Given the description of an element on the screen output the (x, y) to click on. 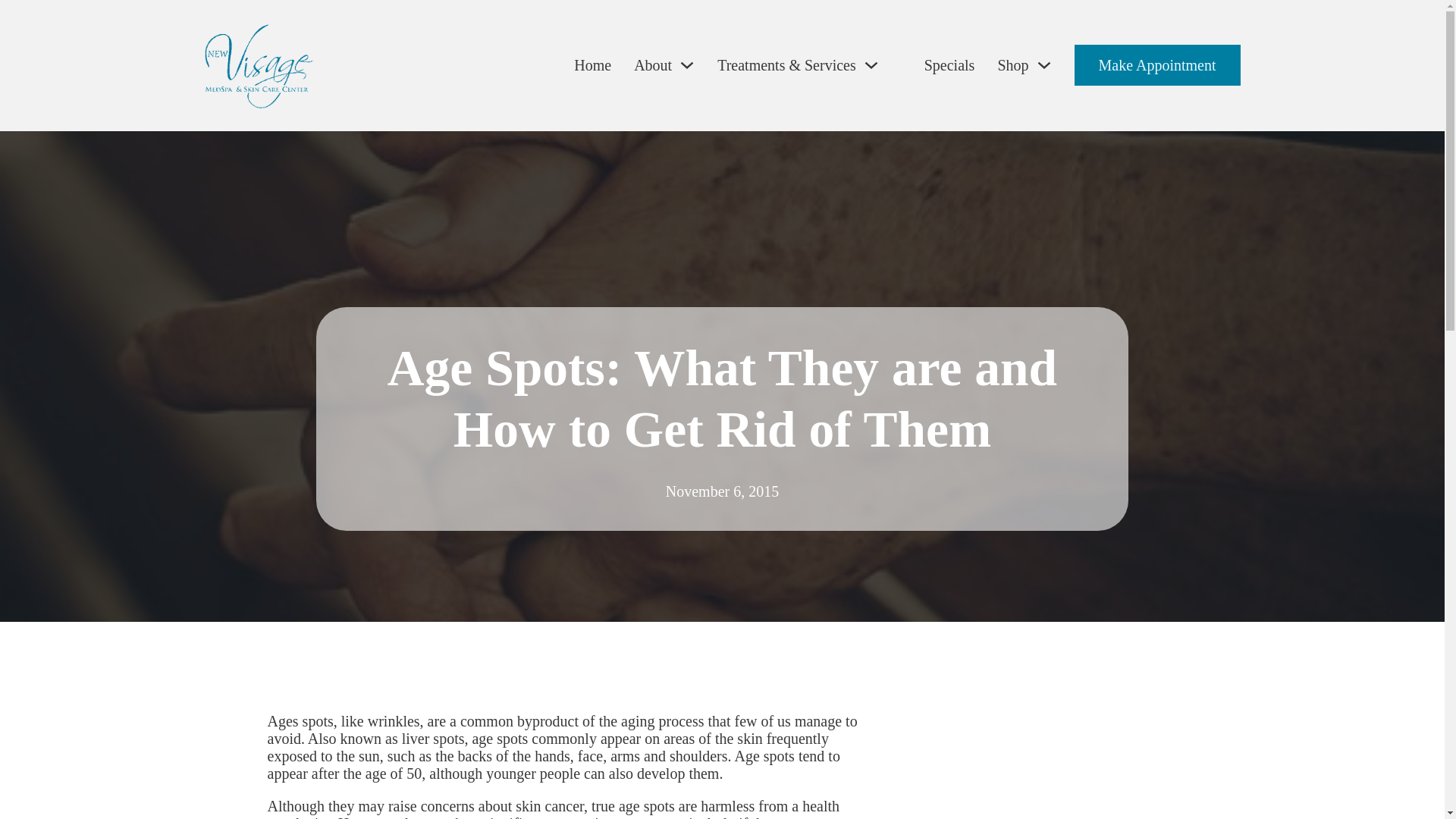
About (652, 65)
Home (592, 65)
